Given the description of an element on the screen output the (x, y) to click on. 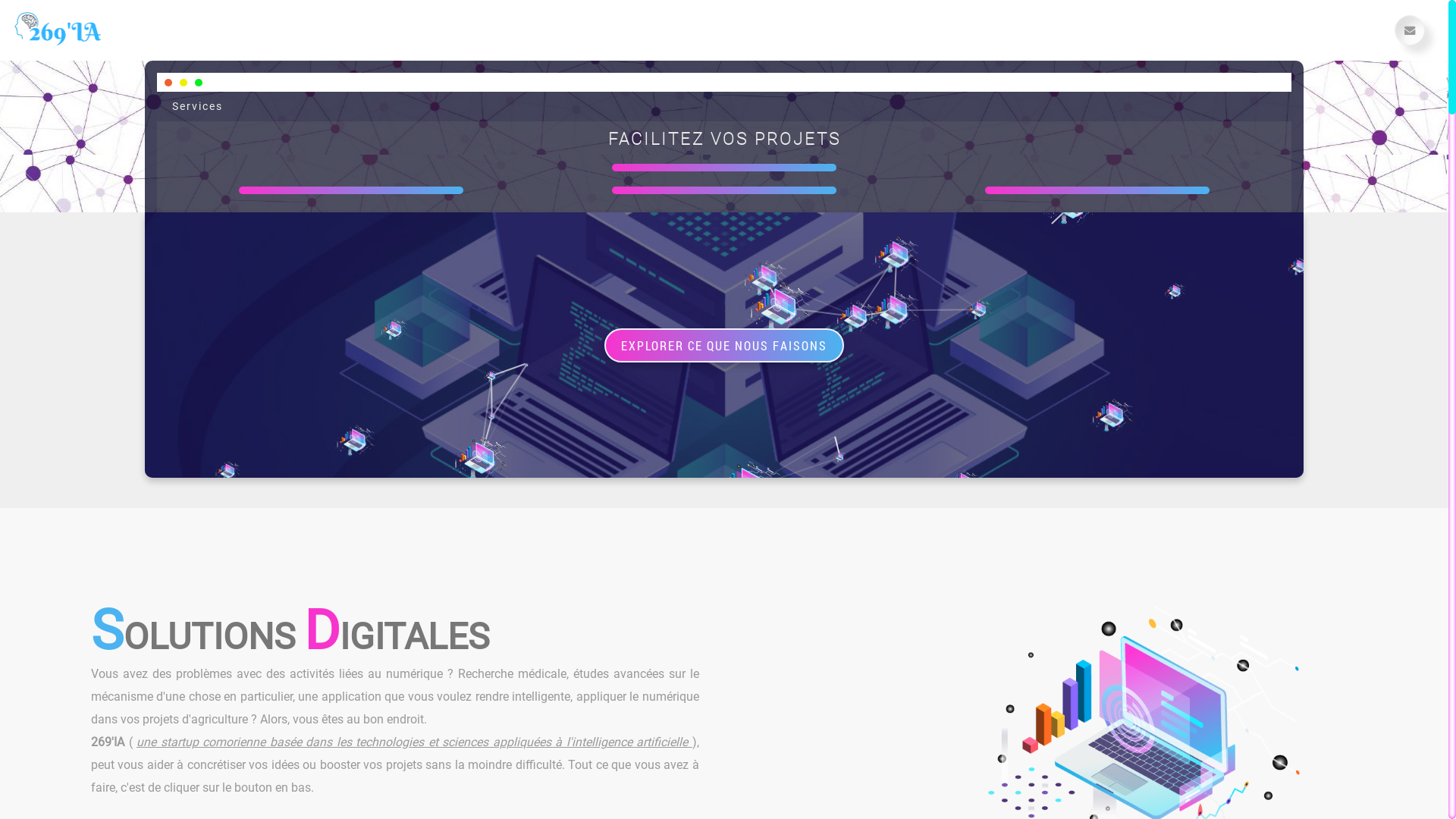
Services Element type: text (197, 106)
EXPLORER CE QUE NOUS FAISONS Element type: text (724, 344)
